Given the description of an element on the screen output the (x, y) to click on. 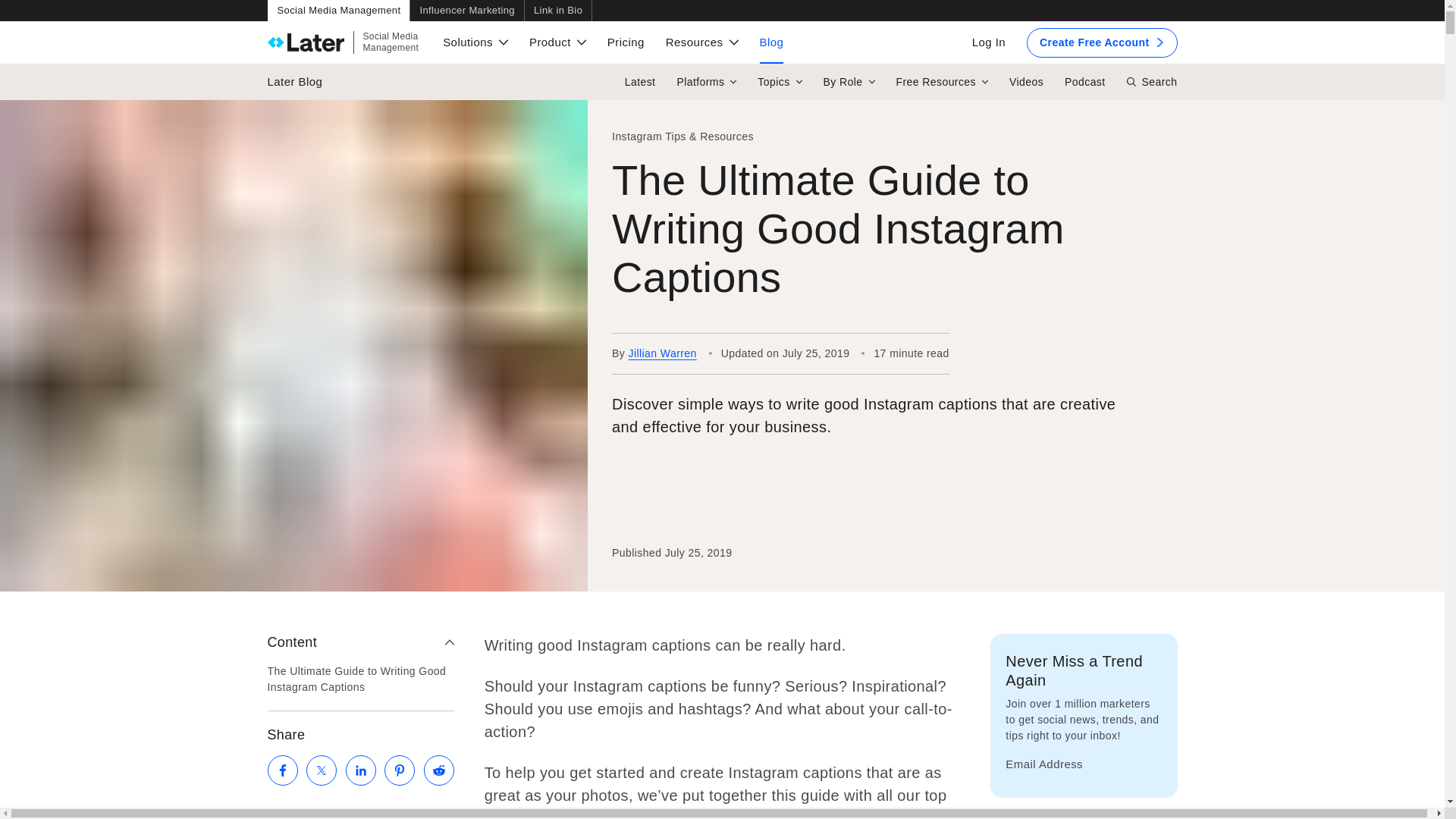
Influencer Marketing (466, 10)
Solutions (474, 42)
Social Media Management (342, 42)
Link in Bio (337, 10)
Product (558, 10)
Pricing (557, 42)
